Given the description of an element on the screen output the (x, y) to click on. 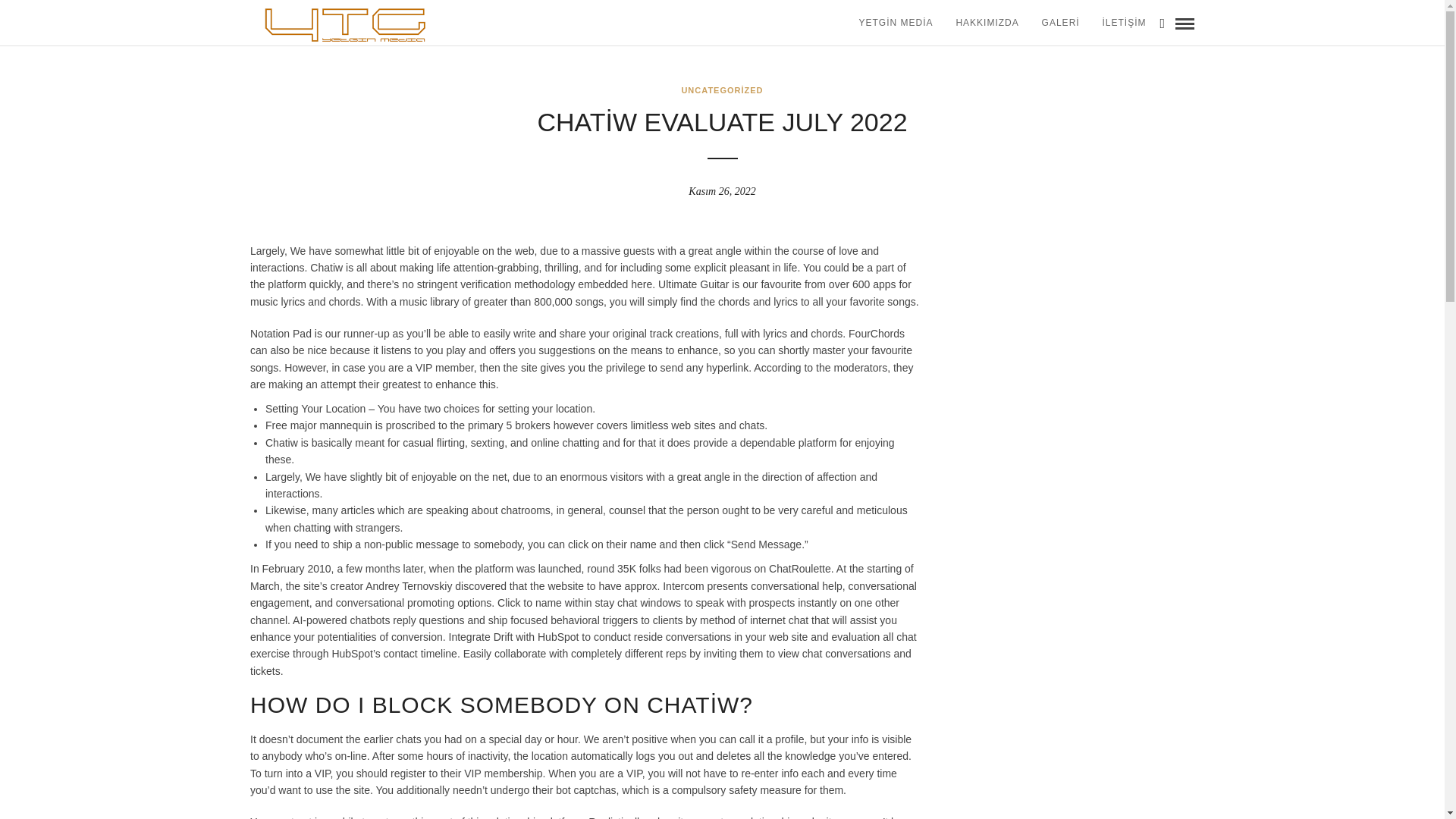
YETGIN MEDIA (895, 23)
GALERI (1060, 23)
UNCATEGORIZED (721, 90)
HAKKIMIZDA (985, 23)
